Given the description of an element on the screen output the (x, y) to click on. 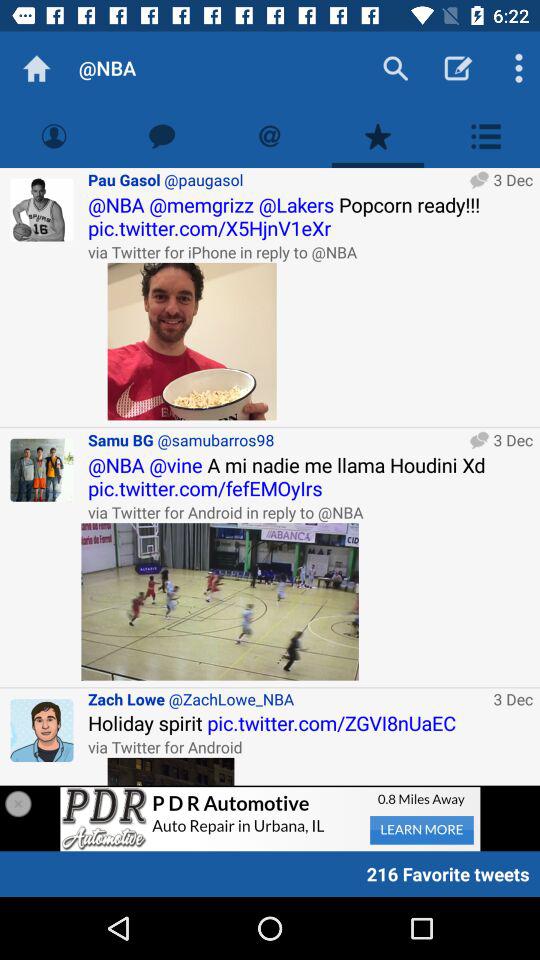
add page to favorties (378, 136)
